Given the description of an element on the screen output the (x, y) to click on. 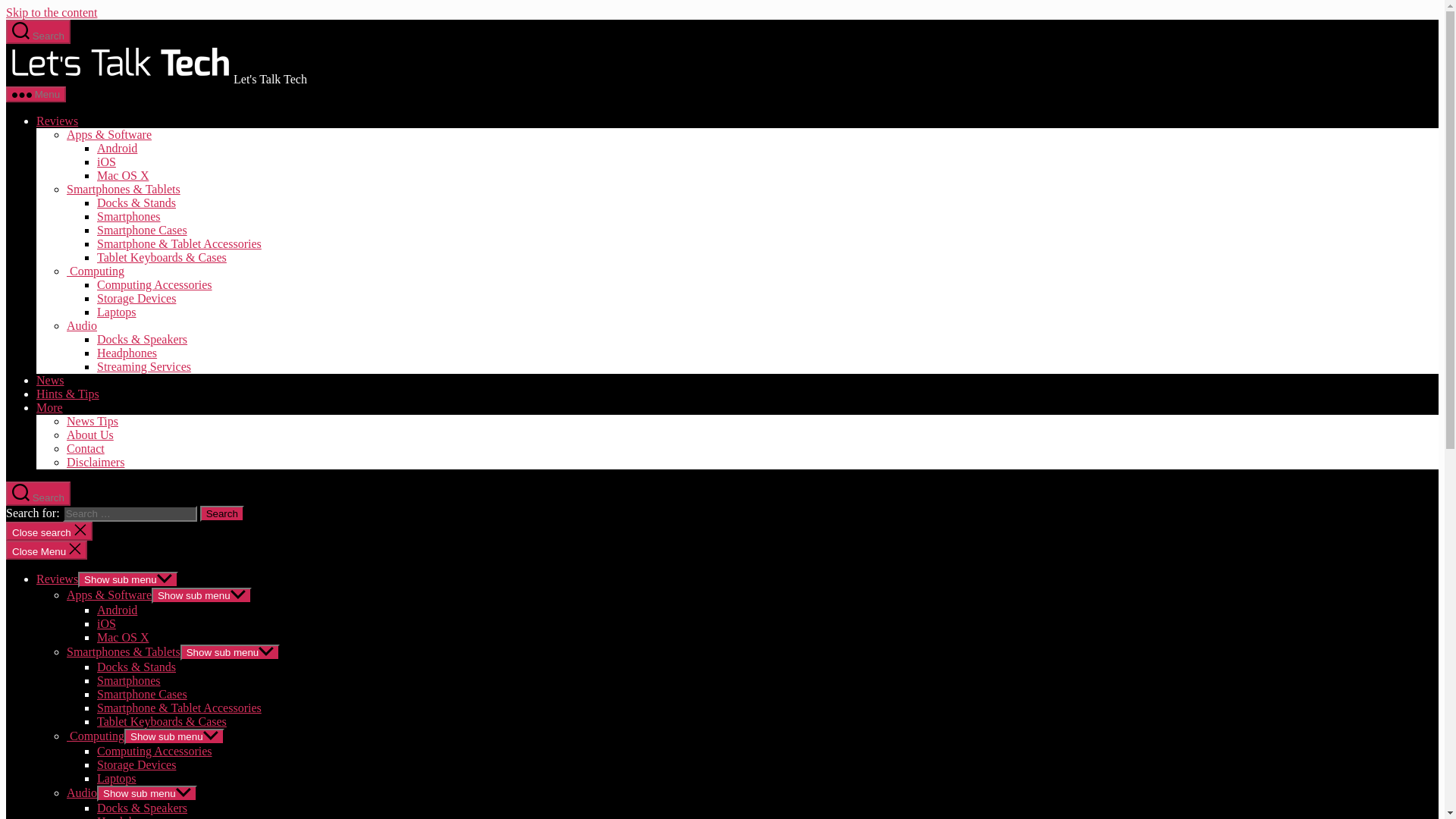
Reviews (57, 578)
Laptops (116, 311)
Streaming Services (143, 366)
Close Menu (46, 549)
News (50, 379)
Search (37, 31)
Search (222, 513)
Computing Accessories (154, 284)
Show sub menu (127, 579)
iOS (106, 623)
iOS (106, 161)
Reviews (57, 120)
Search (37, 493)
Audio (81, 325)
Android (116, 609)
